Given the description of an element on the screen output the (x, y) to click on. 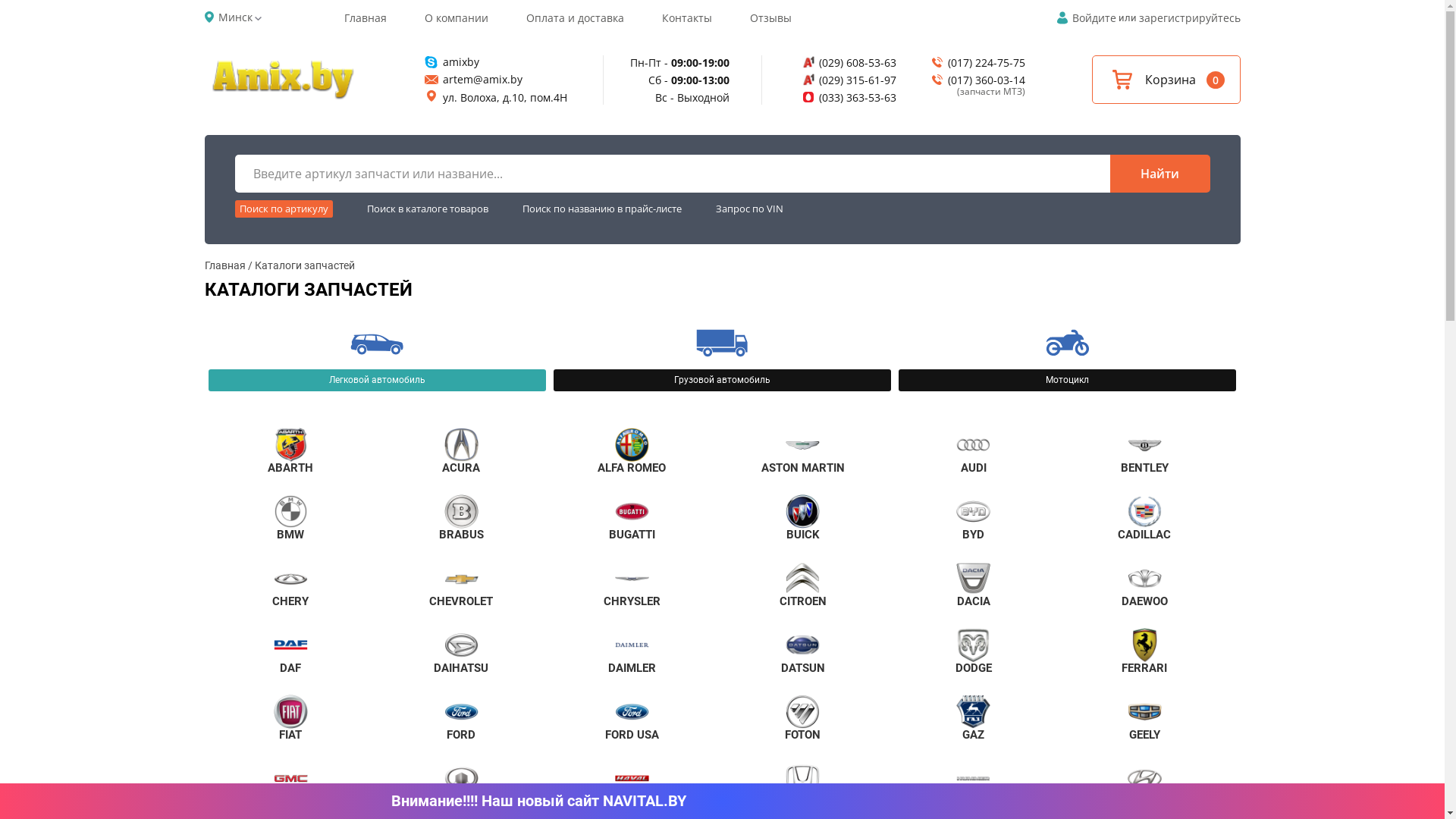
BYD Element type: text (973, 517)
ASTON MARTIN Element type: text (802, 450)
(033) 363-53-63 Element type: text (846, 96)
(029) 608-53-63 Element type: text (846, 61)
GEELY Element type: text (1143, 717)
FOTON Element type: text (802, 717)
DAEWOO Element type: text (1143, 584)
amixby Element type: text (493, 61)
BMW Element type: text (289, 517)
DAIMLER Element type: text (631, 651)
CHEVROLET Element type: text (461, 584)
ACURA Element type: text (461, 450)
CADILLAC Element type: text (1143, 517)
HONDA Element type: text (802, 784)
CITROEN Element type: text (802, 584)
FORD Element type: text (461, 717)
DATSUN Element type: text (802, 651)
GREAT WALL Element type: text (461, 784)
CHRYSLER Element type: text (631, 584)
BUICK Element type: text (802, 517)
FORD USA Element type: text (631, 717)
DAF Element type: text (289, 651)
BUGATTI Element type: text (631, 517)
(029) 315-61-97 Element type: text (846, 79)
GMC Element type: text (289, 784)
HAVAL Element type: text (631, 784)
AUDI Element type: text (973, 450)
BENTLEY Element type: text (1143, 450)
HYUNDAI Element type: text (1143, 784)
FIAT Element type: text (289, 717)
CHERY Element type: text (289, 584)
GAZ Element type: text (973, 717)
(017) 360-03-14 Element type: text (975, 79)
ABARTH Element type: text (289, 450)
HUMMER Element type: text (973, 784)
BRABUS Element type: text (461, 517)
DAIHATSU Element type: text (461, 651)
artem@amix.by Element type: text (493, 79)
ALFA ROMEO Element type: text (631, 450)
DACIA Element type: text (973, 584)
DODGE Element type: text (973, 651)
(017) 224-75-75 Element type: text (975, 61)
FERRARI Element type: text (1143, 651)
